Given the description of an element on the screen output the (x, y) to click on. 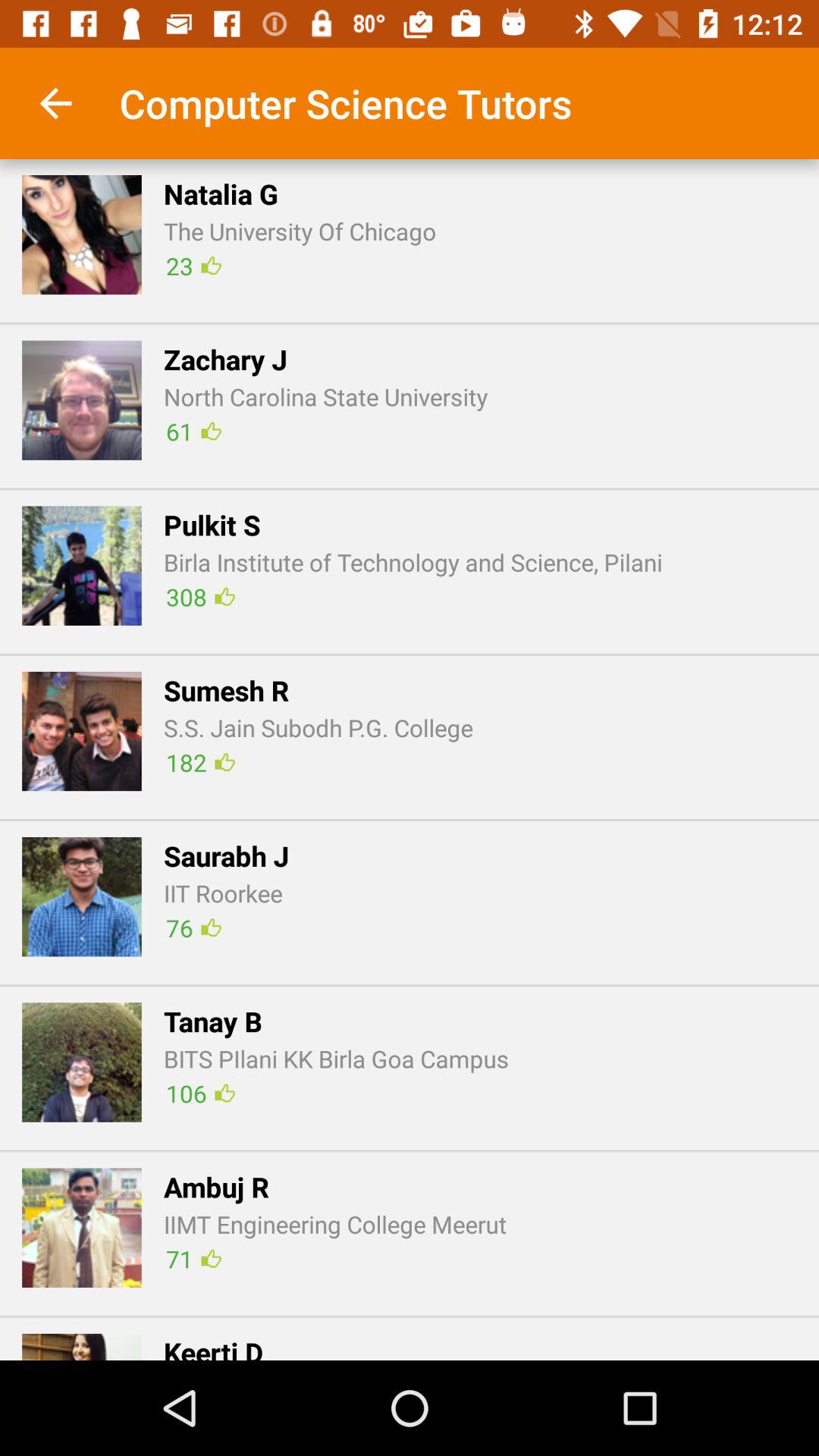
turn on item to the right of the a (193, 1258)
